Given the description of an element on the screen output the (x, y) to click on. 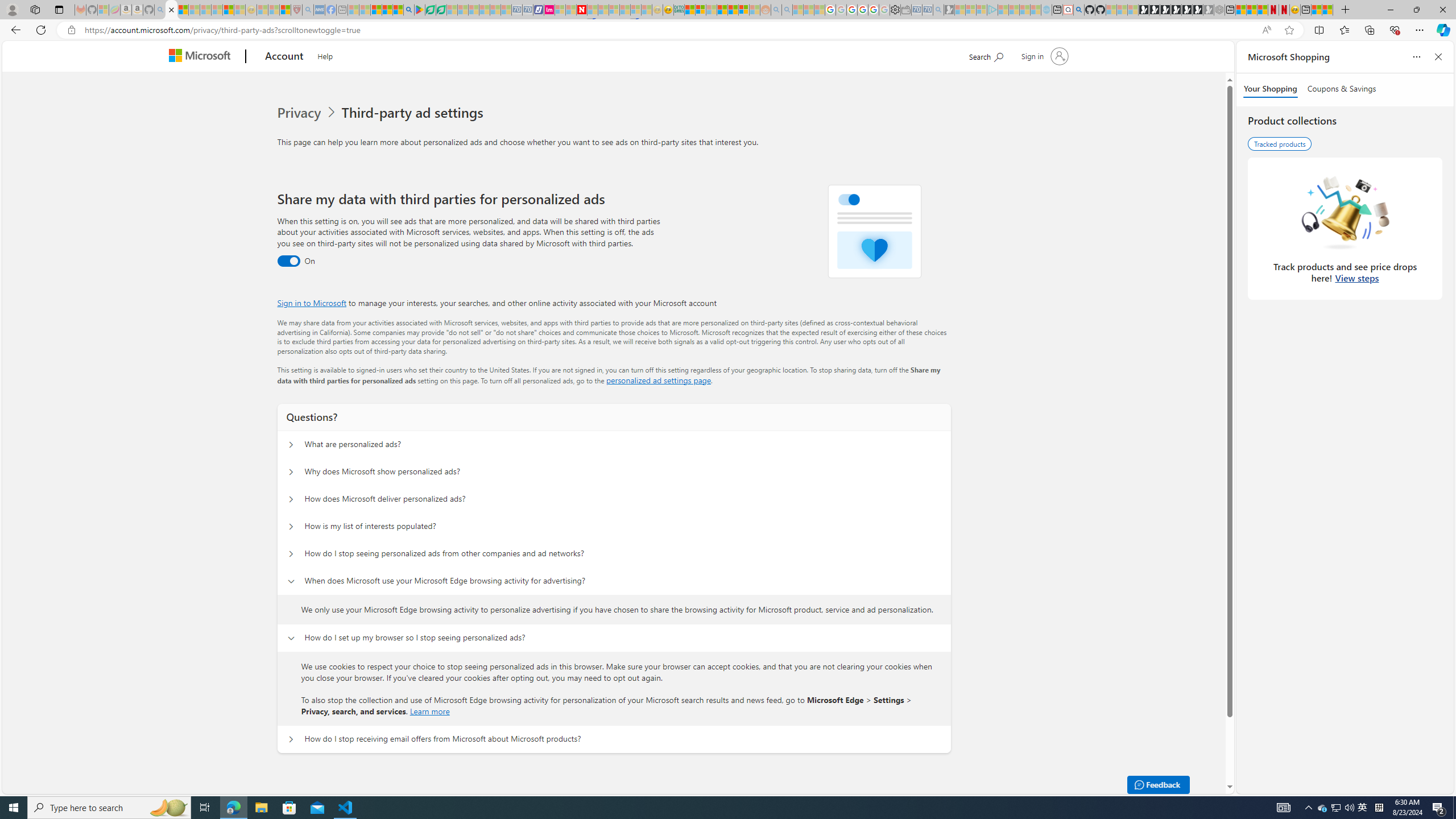
Account (283, 56)
Questions? What are personalized ads? (290, 444)
Help (324, 54)
Third-party ad settings (414, 112)
Robert H. Shmerling, MD - Harvard Health - Sleeping (296, 9)
Sign in to your account (1043, 55)
Questions? Why does Microsoft show personalized ads? (290, 472)
Home | Sky Blue Bikes - Sky Blue Bikes - Sleeping (1046, 9)
